Given the description of an element on the screen output the (x, y) to click on. 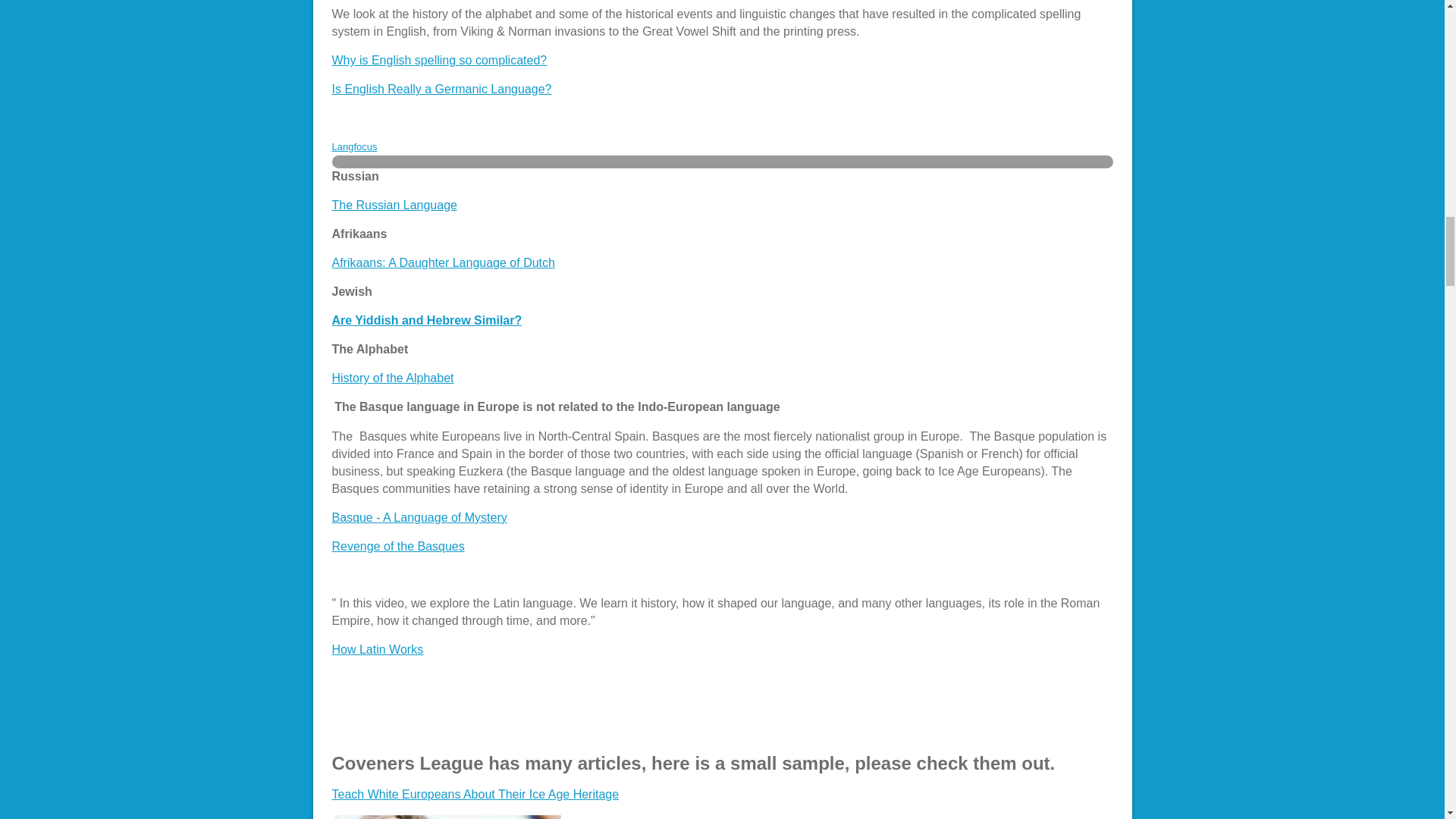
Teach White Europeans About Their Ice Age Heritage (475, 793)
